Given the description of an element on the screen output the (x, y) to click on. 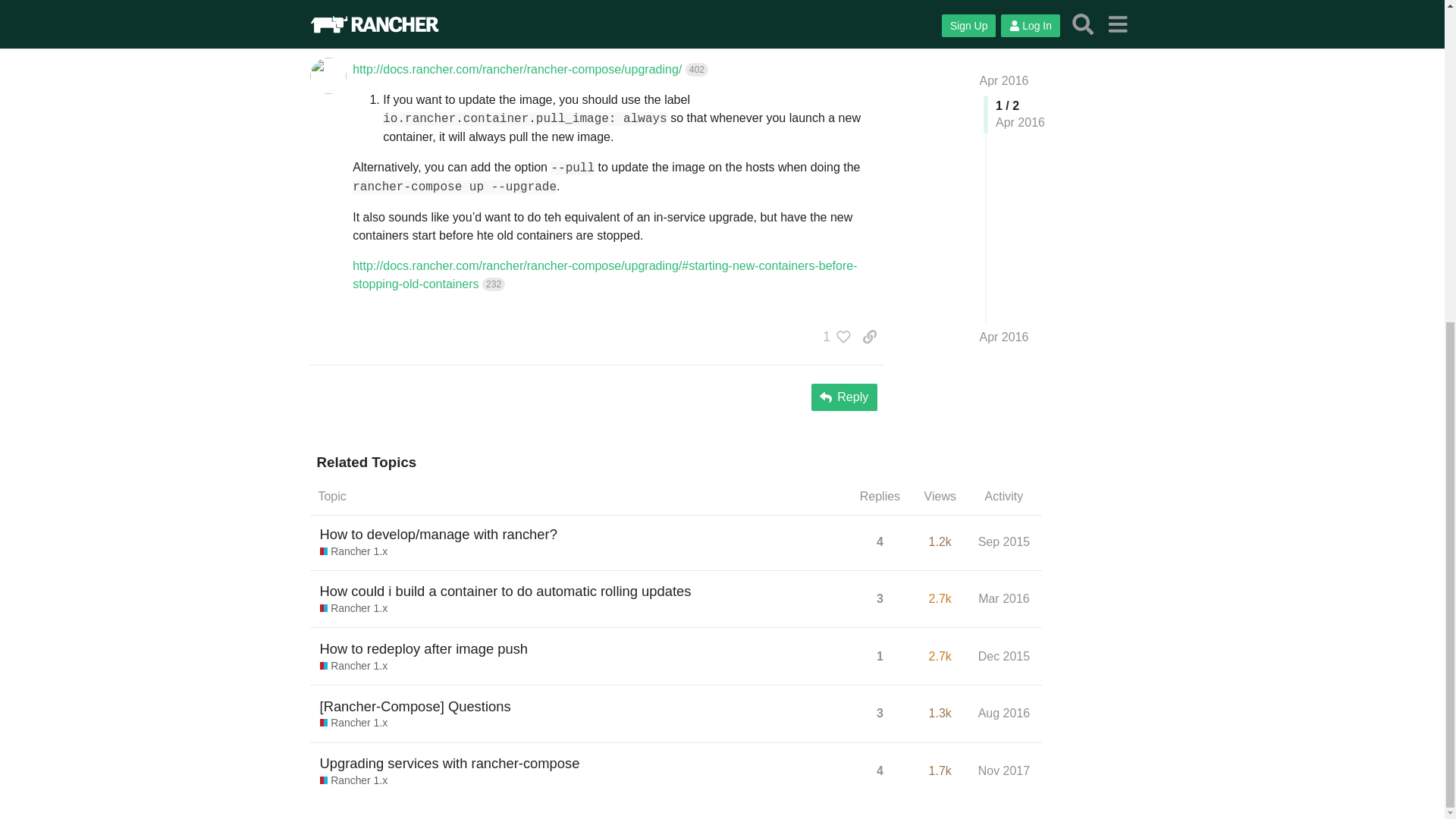
Apr 2016 (851, 6)
How to redeploy after image push (424, 648)
1 person liked this post (832, 336)
Rancher 1.x (354, 551)
Reply (843, 397)
402 clicks (696, 69)
Rancher 1.x (354, 608)
232 clicks (493, 283)
Sep 2015 (1003, 541)
Rancher 1.x (354, 666)
